Given the description of an element on the screen output the (x, y) to click on. 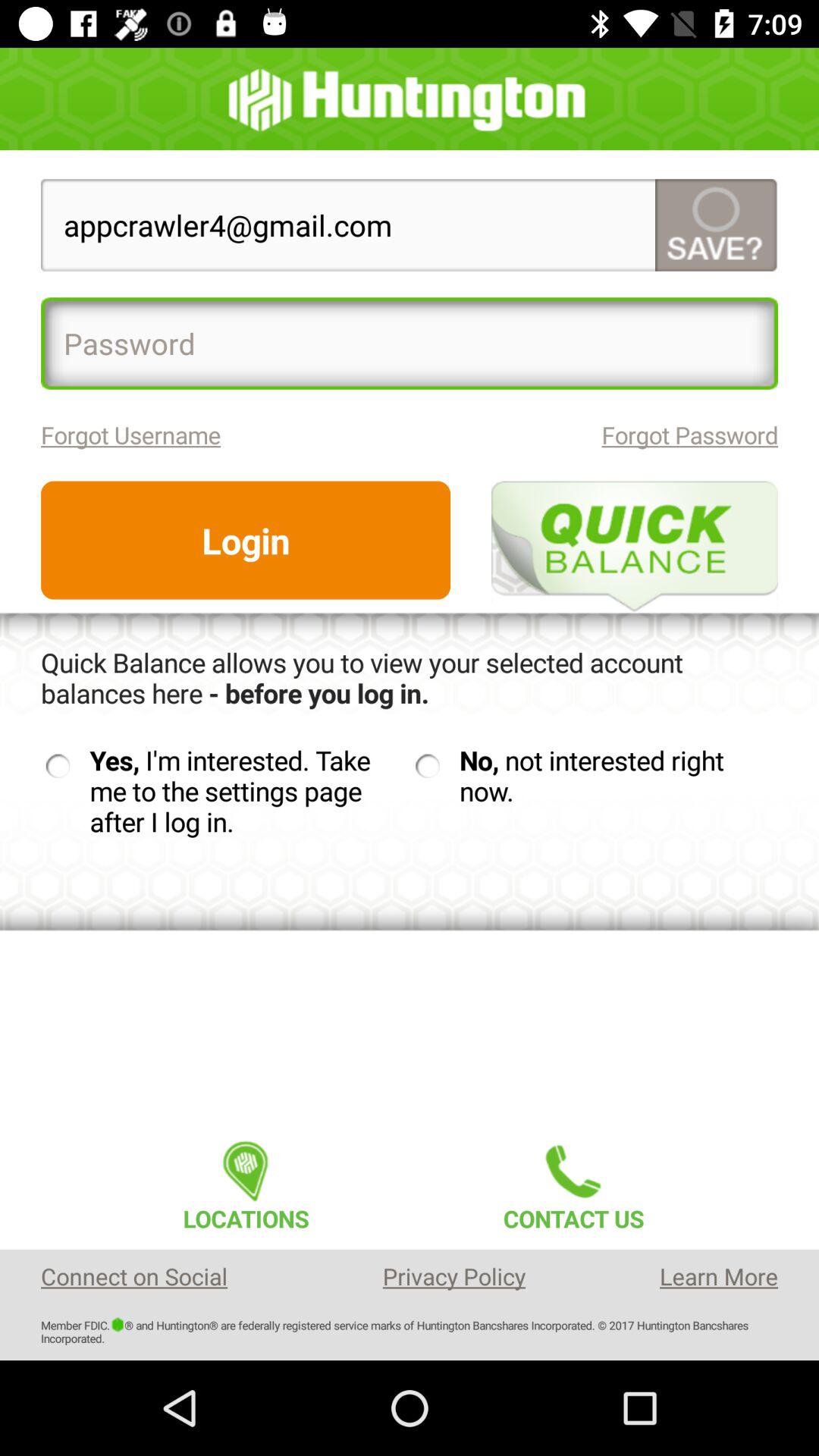
launch icon above quick balance allows (245, 540)
